Given the description of an element on the screen output the (x, y) to click on. 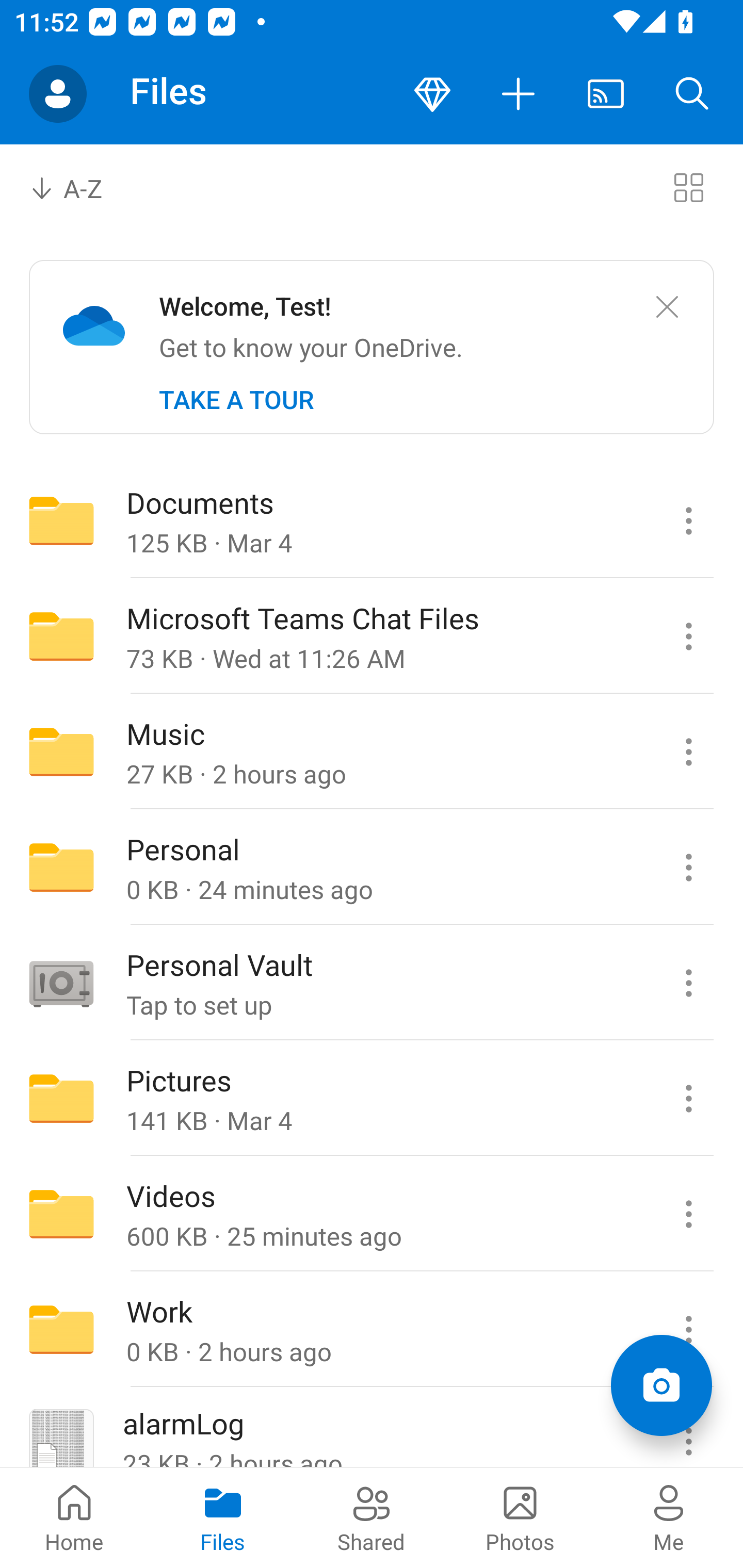
Account switcher (57, 93)
Cast. Disconnected (605, 93)
Premium button (432, 93)
More actions button (518, 93)
Search button (692, 93)
A-Z Sort by combo box, sort by name, A to Z (80, 187)
Switch to tiles view (688, 187)
Close (667, 307)
TAKE A TOUR (236, 399)
Folder Documents 125 KB · Mar 4 Documents commands (371, 520)
Documents commands (688, 520)
Microsoft Teams Chat Files commands (688, 636)
Folder Music 27 KB · 2 hours ago Music commands (371, 751)
Music commands (688, 751)
Personal commands (688, 867)
Personal Vault commands (688, 983)
Folder Pictures 141 KB · Mar 4 Pictures commands (371, 1099)
Pictures commands (688, 1099)
Videos commands (688, 1214)
Folder Work 0 KB · 2 hours ago Work commands (371, 1329)
Work commands (688, 1329)
Add items Scan (660, 1385)
alarmLog commands (688, 1427)
Home pivot Home (74, 1517)
Shared pivot Shared (371, 1517)
Photos pivot Photos (519, 1517)
Me pivot Me (668, 1517)
